Given the description of an element on the screen output the (x, y) to click on. 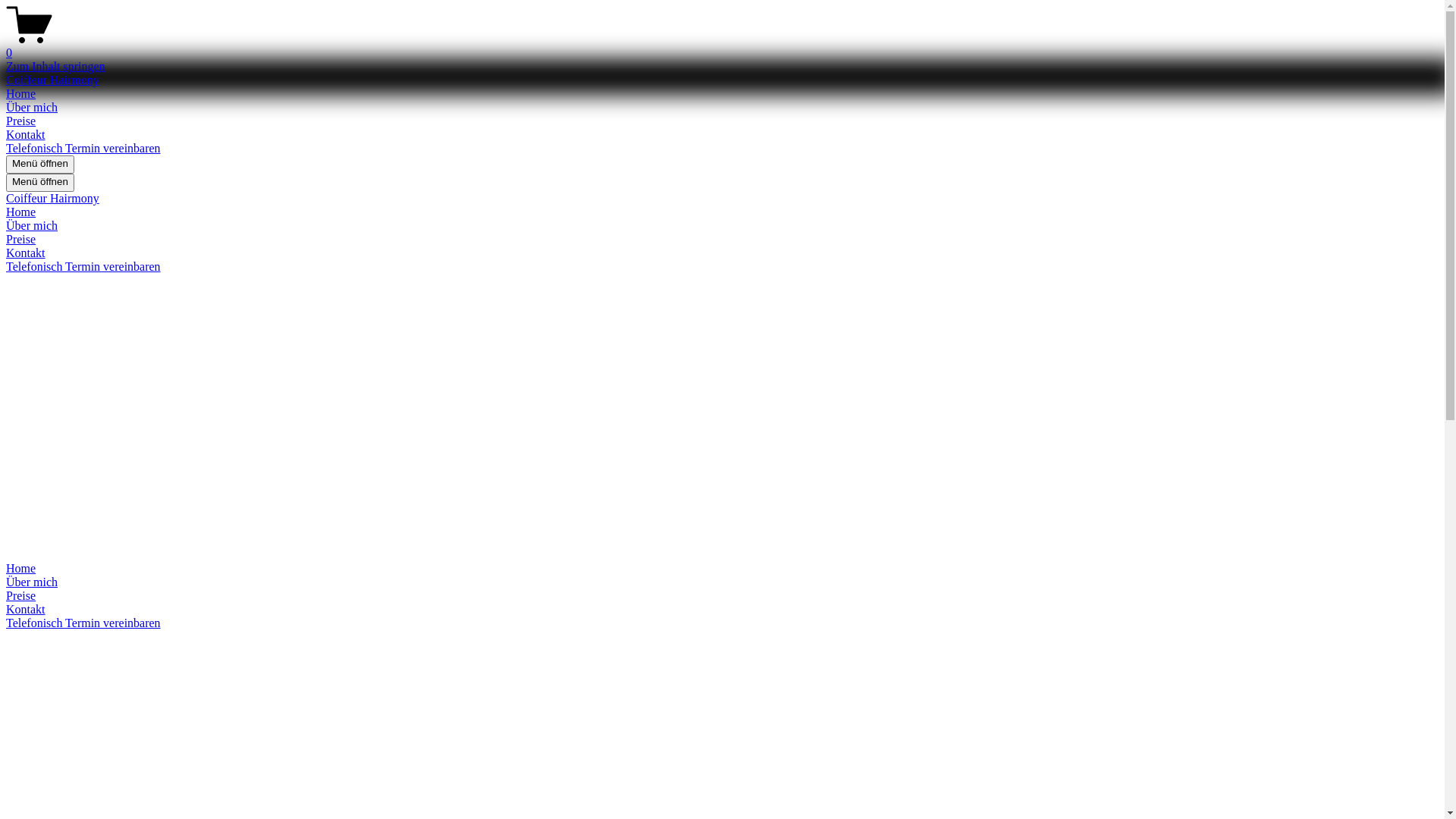
Telefonisch Termin vereinbaren Element type: text (83, 266)
Kontakt Element type: text (722, 609)
Home Element type: text (722, 568)
Coiffeur Hairmony Element type: text (52, 79)
Preise Element type: text (20, 120)
Telefonisch Termin vereinbaren Element type: text (83, 622)
0 Element type: text (722, 45)
Zum Inhalt springen Element type: text (55, 65)
Preise Element type: text (20, 238)
Preise Element type: text (722, 595)
Home Element type: text (20, 211)
Telefonisch Termin vereinbaren Element type: text (83, 147)
Home Element type: text (20, 93)
Coiffeur Hairmony Element type: text (52, 197)
Kontakt Element type: text (25, 252)
Kontakt Element type: text (25, 134)
